Given the description of an element on the screen output the (x, y) to click on. 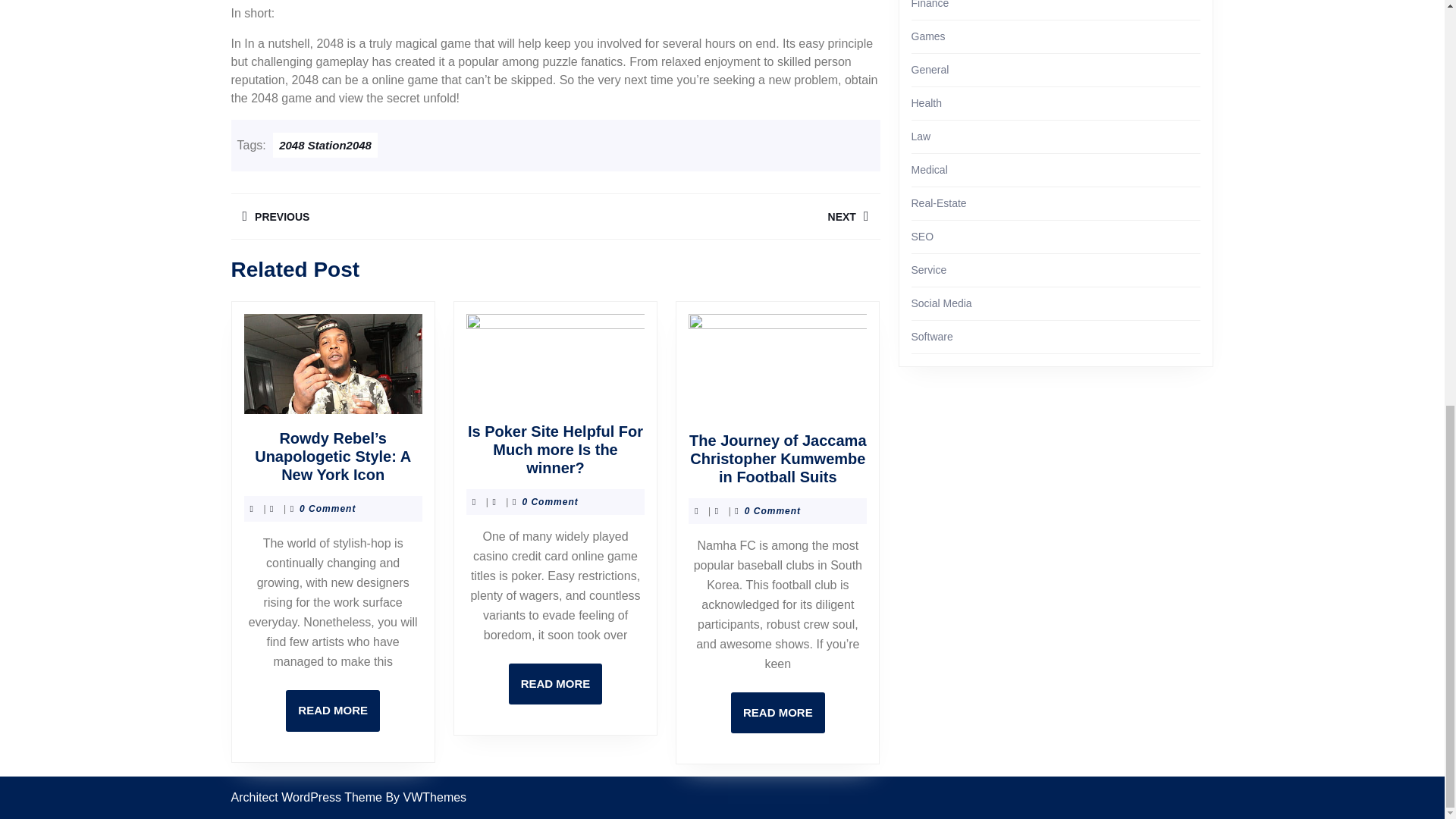
2048 Station2048 (777, 712)
